Given the description of an element on the screen output the (x, y) to click on. 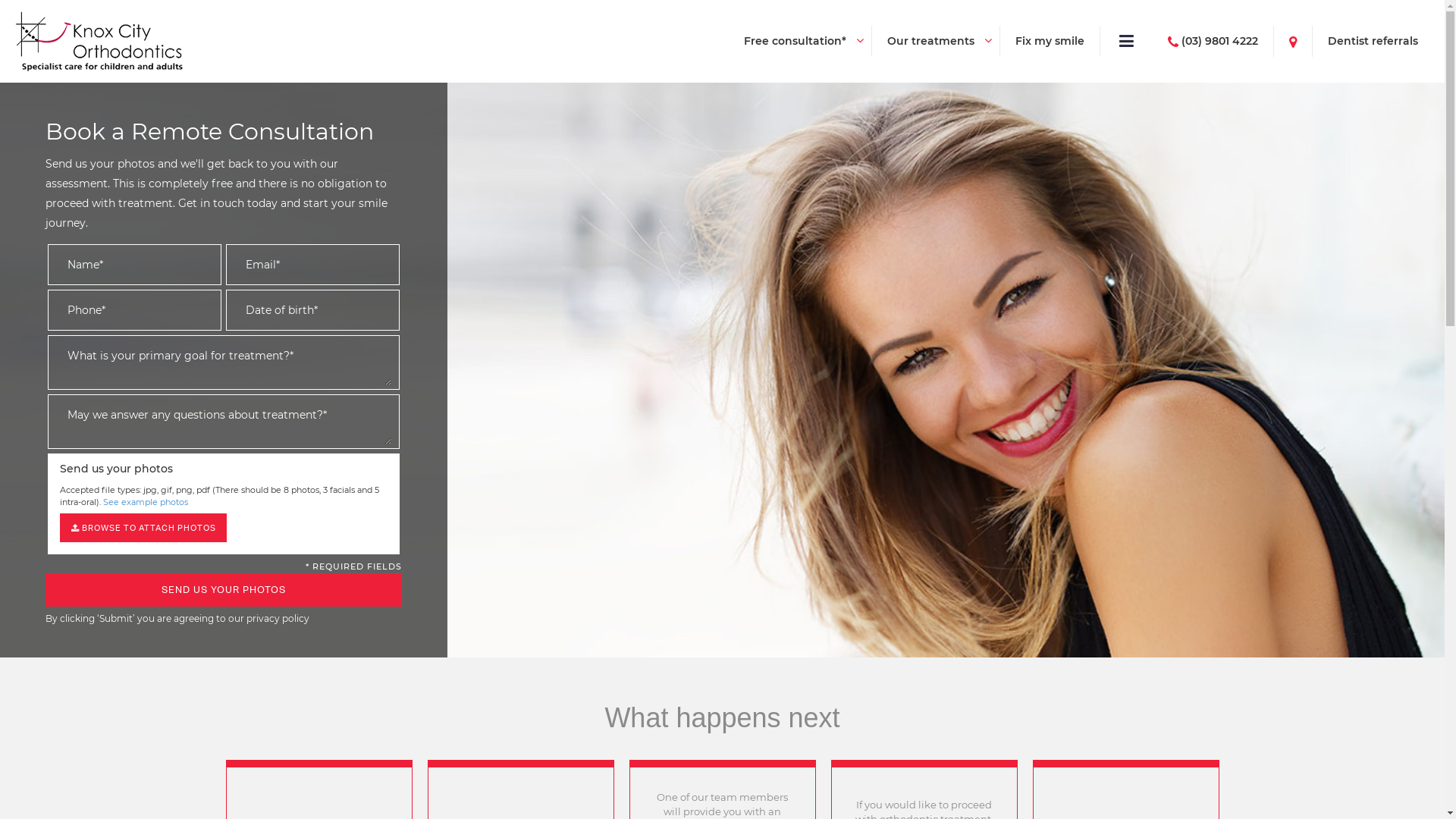
BROWSE TO ATTACH PHOTOS Element type: text (142, 527)
Knox City Orthodontics Element type: hover (98, 41)
See example photos Element type: text (145, 501)
Find us Element type: hover (1292, 40)
Our treatments Element type: text (930, 40)
(03) 9801 4222 Element type: text (1212, 40)
privacy policy Element type: text (277, 618)
Free consultation* Element type: text (794, 40)
Dentist referrals Element type: text (1365, 40)
SEND US YOUR PHOTOS Element type: text (223, 590)
Fix my smile Element type: text (1049, 40)
